Given the description of an element on the screen output the (x, y) to click on. 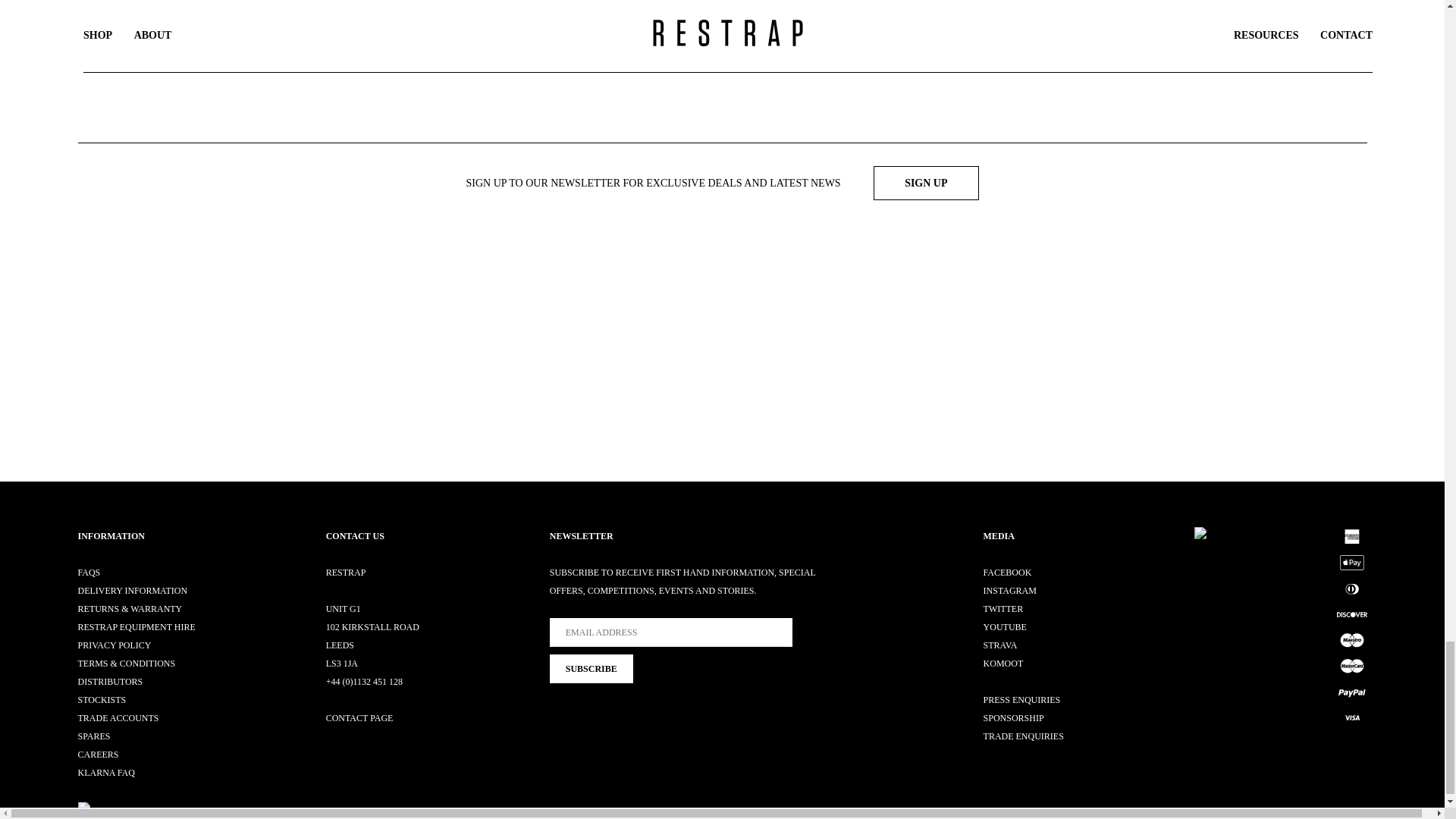
Careers (97, 754)
Klarna FAQ (105, 772)
Frequently Asked Questions (88, 572)
Spares (93, 736)
Subscribe (591, 668)
Find a Retail Partner (101, 699)
Privacy Policy (114, 644)
Returns and Warranty (129, 608)
Distributors (109, 681)
Delivery Information (132, 590)
